Given the description of an element on the screen output the (x, y) to click on. 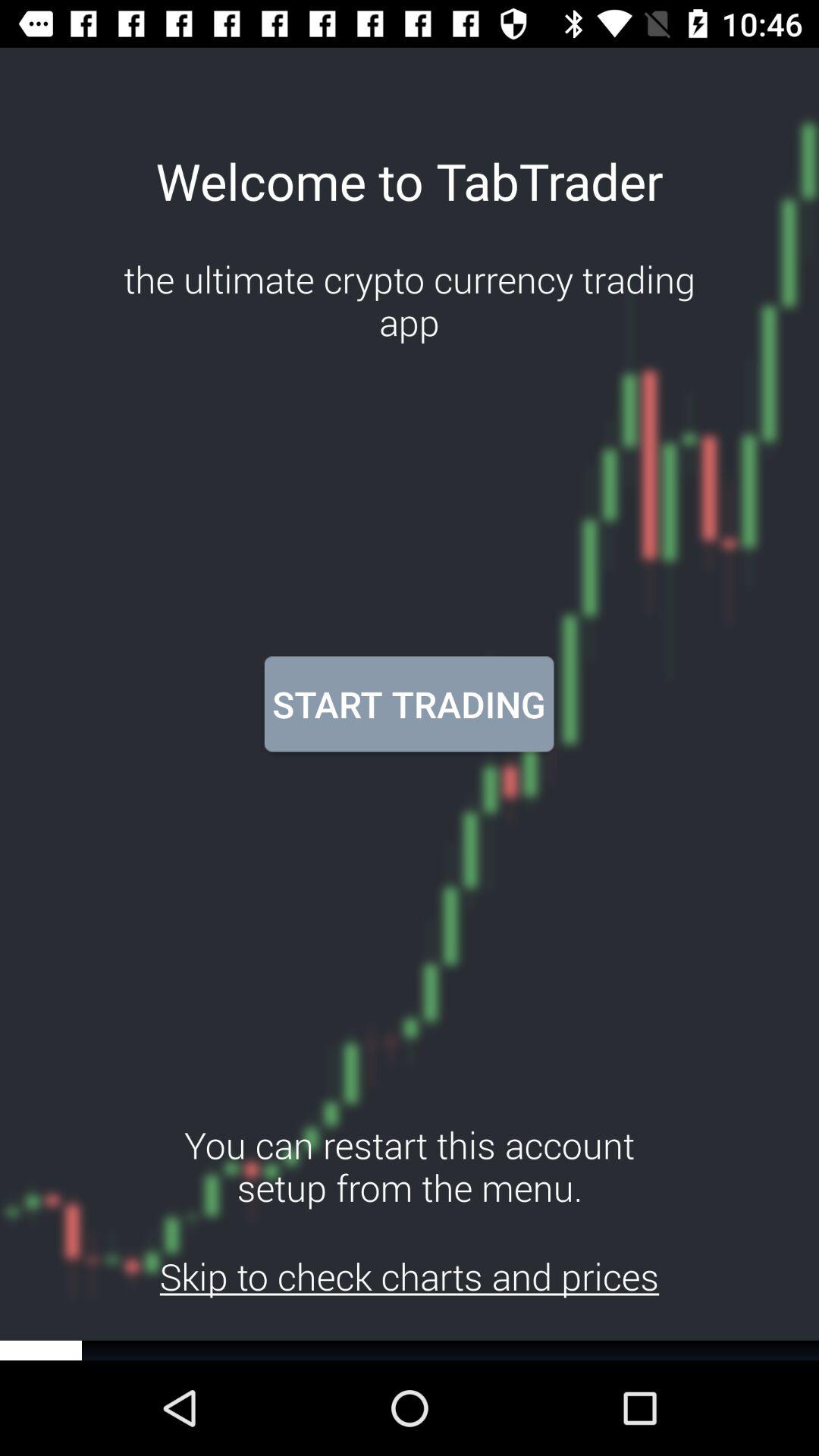
scroll until the start trading icon (408, 703)
